Given the description of an element on the screen output the (x, y) to click on. 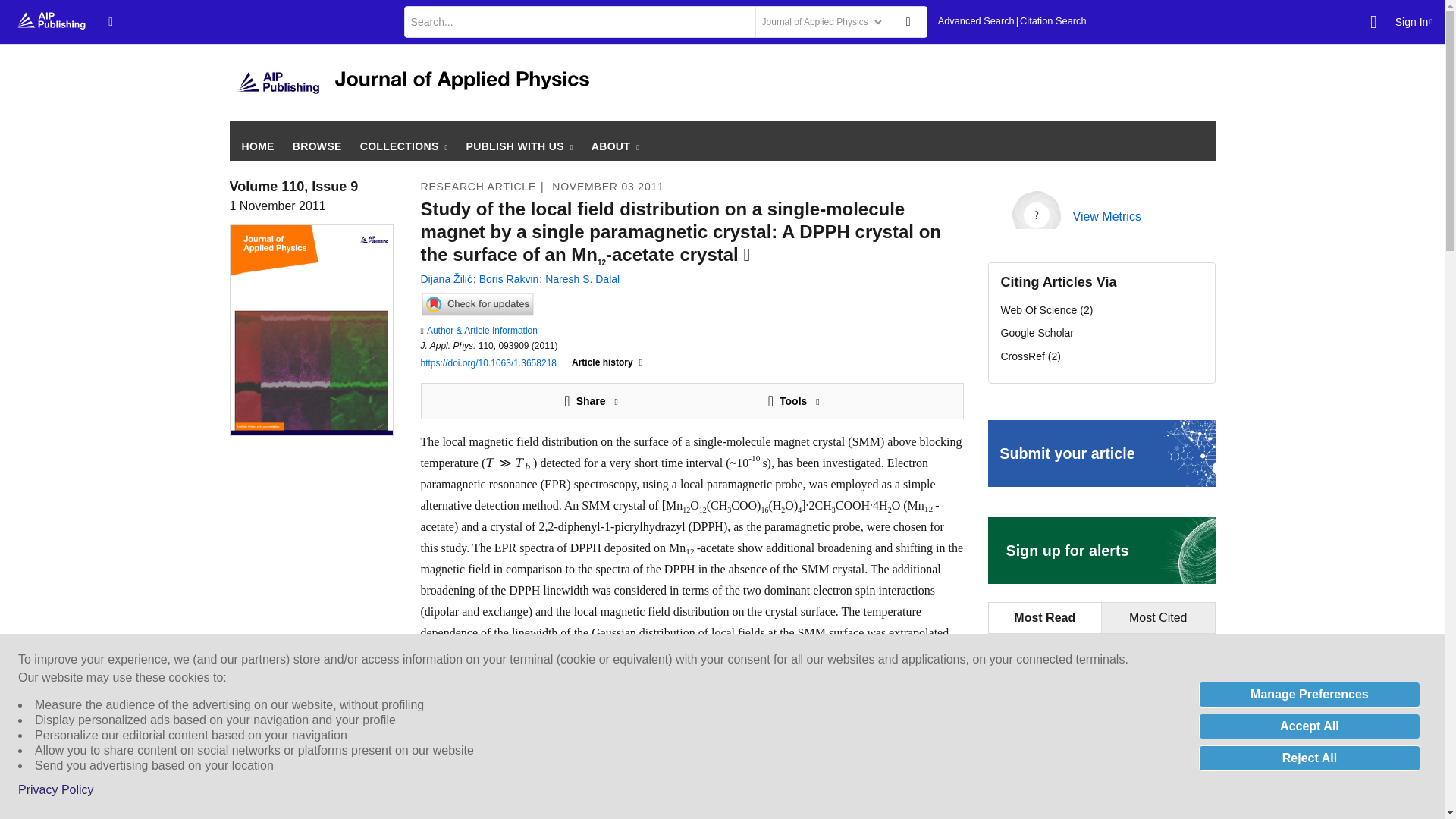
Advanced Search (975, 21)
Reject All (1309, 758)
Privacy Policy (55, 789)
Sign In (1413, 21)
search input (578, 21)
Citation Search (1053, 21)
Accept All (1309, 726)
Manage Preferences (1309, 694)
